Given the description of an element on the screen output the (x, y) to click on. 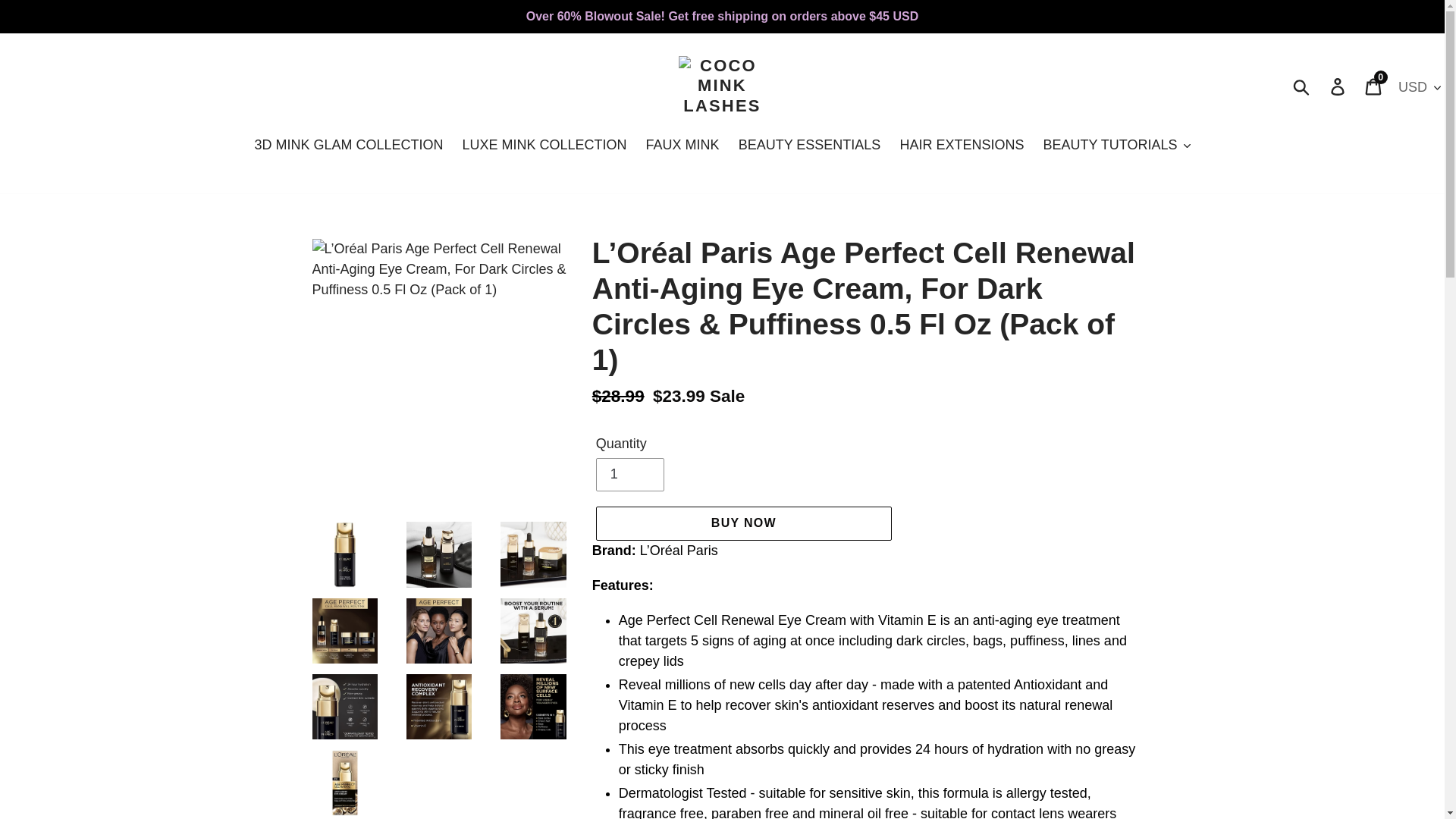
Submit (1302, 86)
HAIR EXTENSIONS (960, 146)
Log in (1338, 85)
1 (1373, 85)
3D MINK GLAM COLLECTION (629, 474)
BUY NOW (347, 146)
FAUX MINK (743, 522)
LUXE MINK COLLECTION (682, 146)
BEAUTY ESSENTIALS (544, 146)
